Given the description of an element on the screen output the (x, y) to click on. 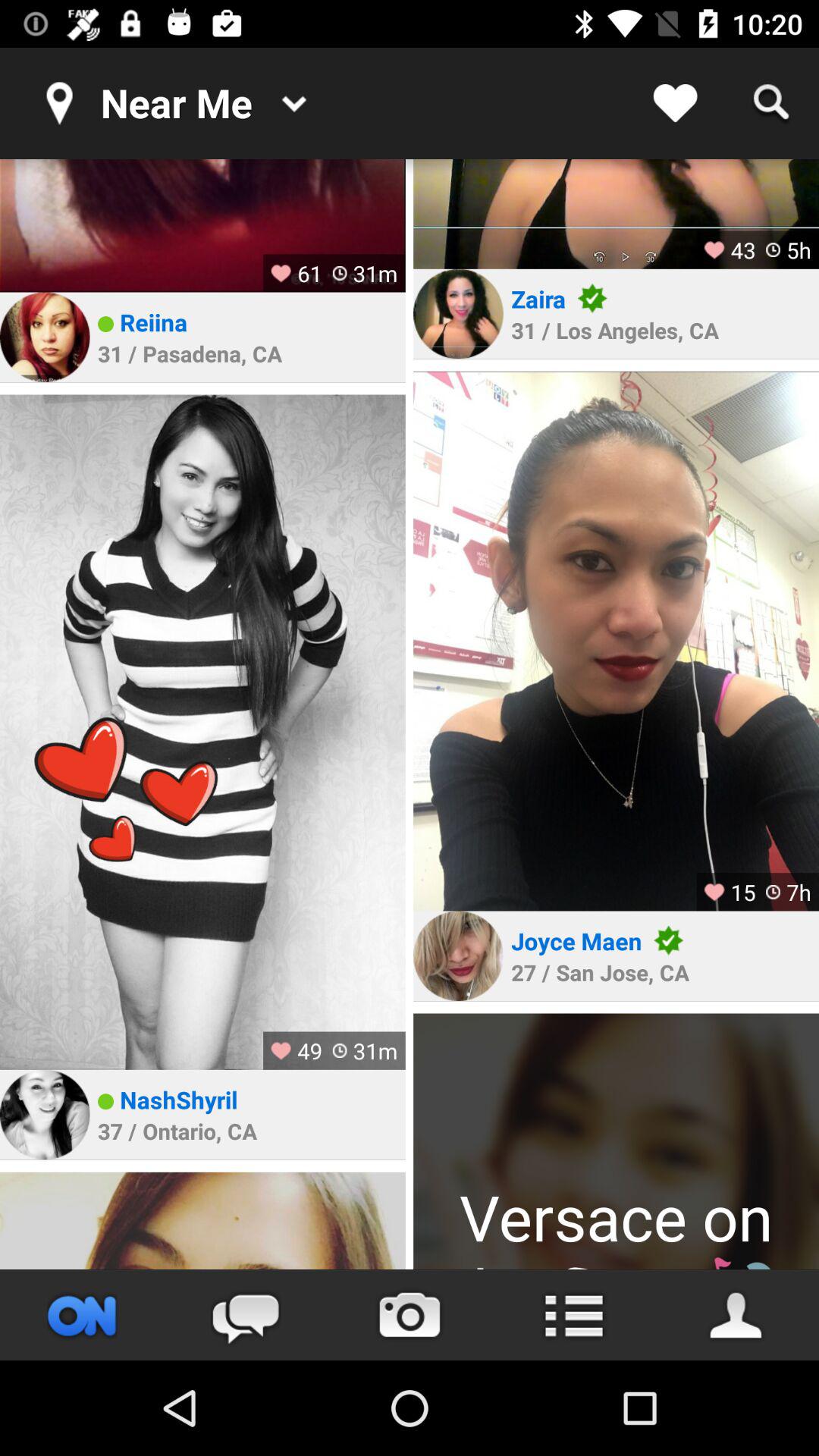
app activated (81, 1315)
